Given the description of an element on the screen output the (x, y) to click on. 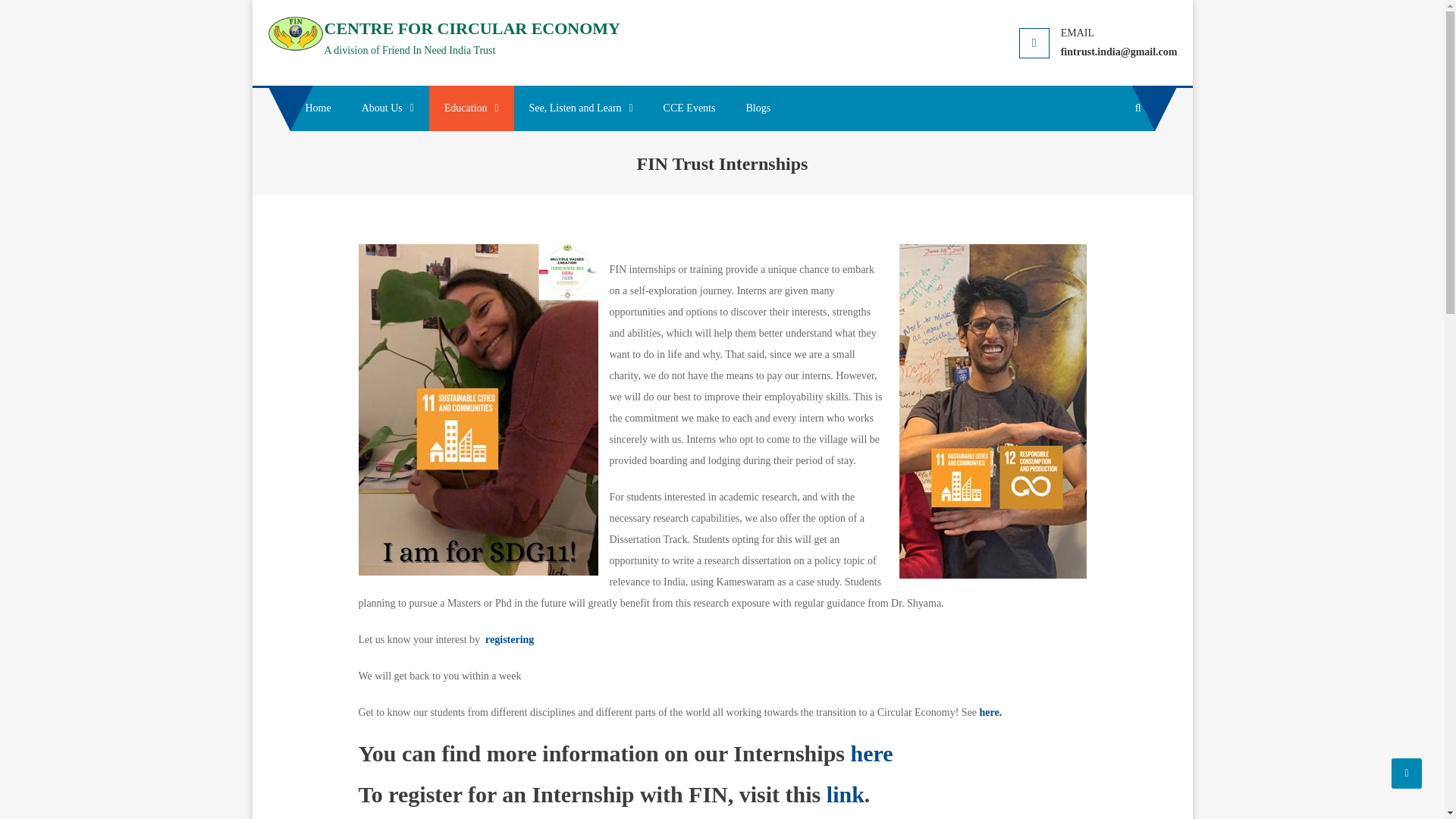
CENTRE FOR CIRCULAR ECONOMY (472, 27)
Home (317, 108)
About Us (387, 108)
Education (471, 108)
See, Listen and Learn (580, 108)
